Given the description of an element on the screen output the (x, y) to click on. 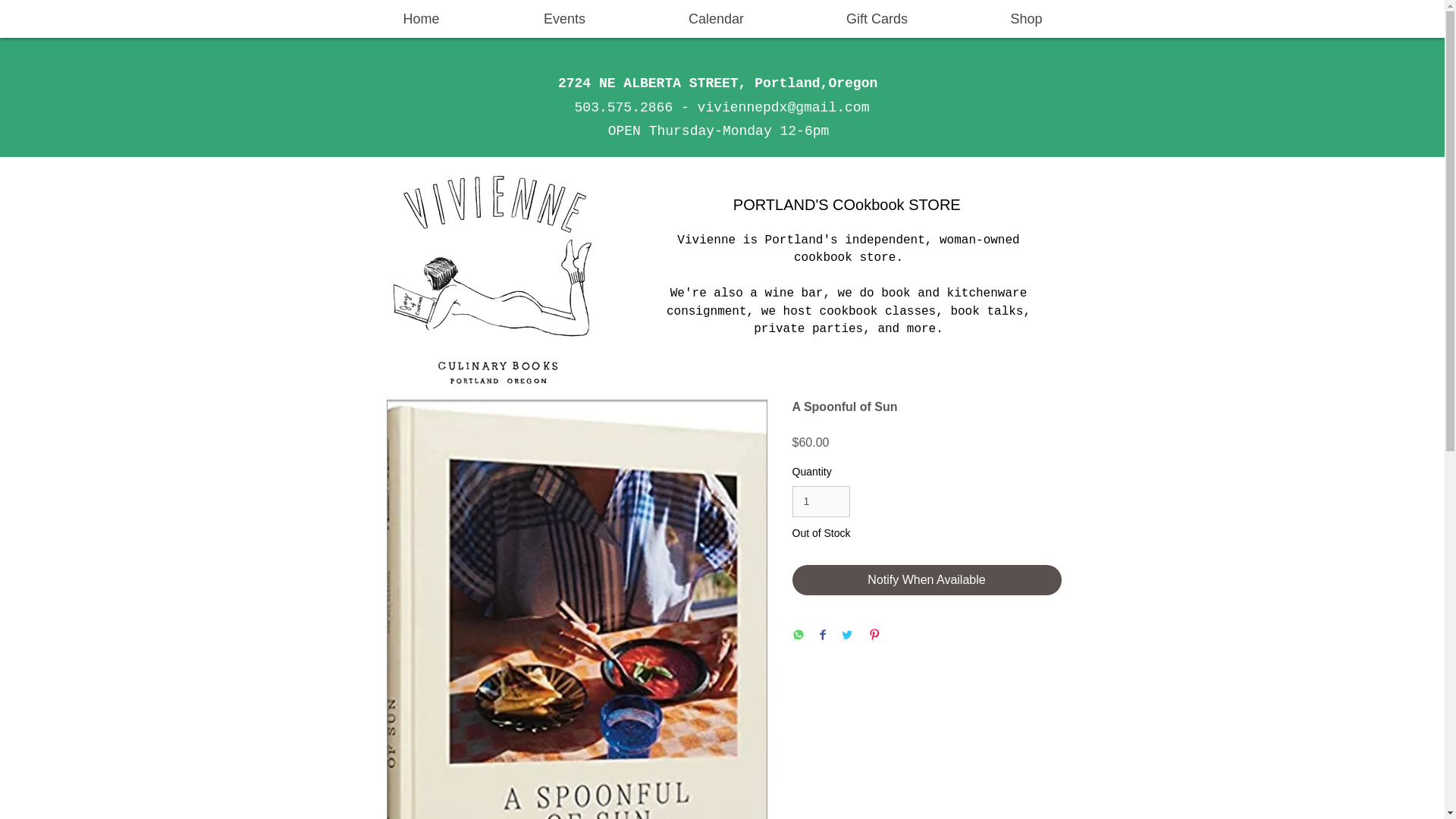
Notify When Available (926, 580)
Shop (1026, 18)
Gift Cards (876, 18)
1 (820, 501)
Events (564, 18)
Home (421, 18)
Calendar (715, 18)
